Given the description of an element on the screen output the (x, y) to click on. 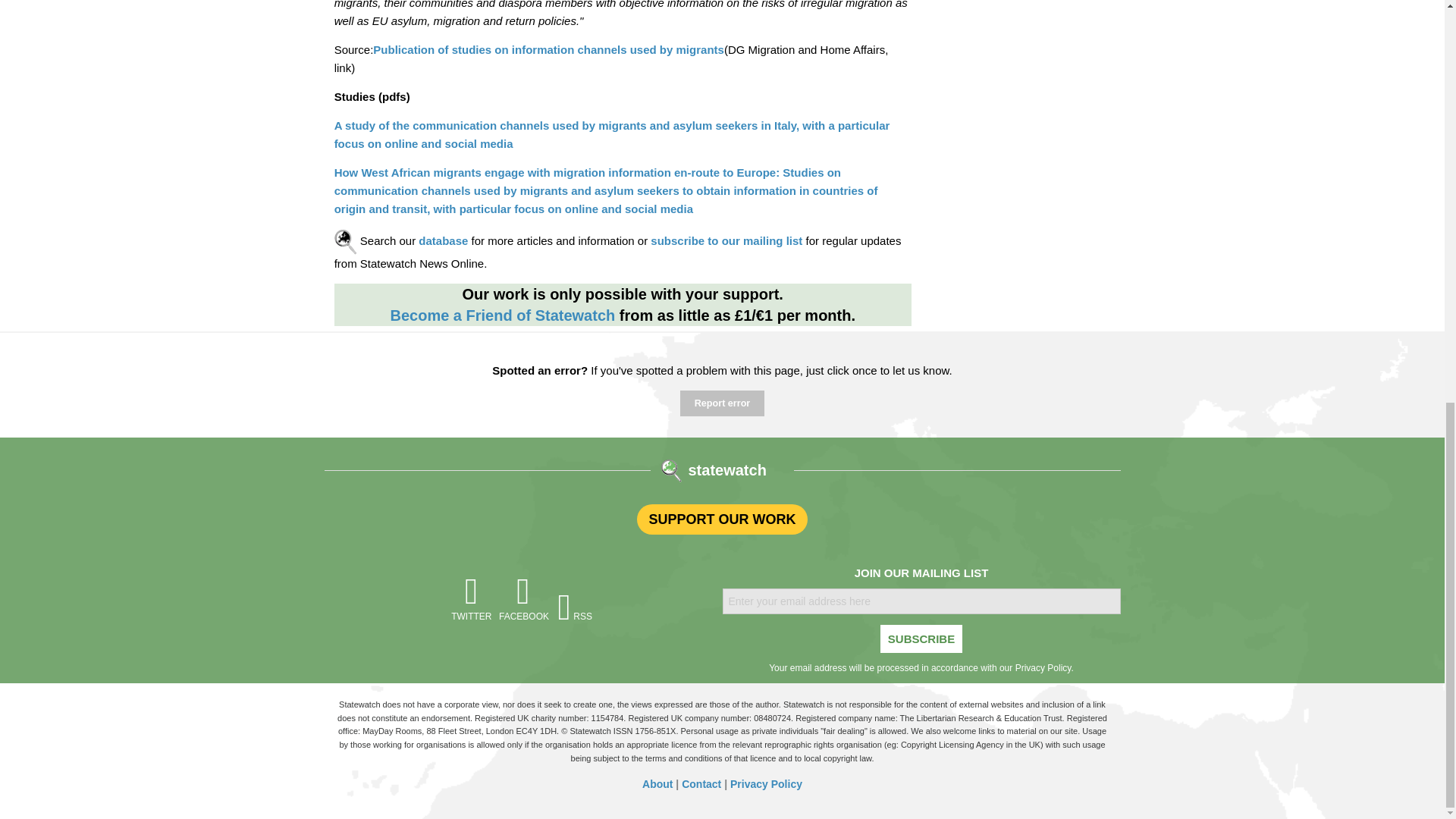
Donate (502, 315)
SUBSCRIBE (921, 638)
